Given the description of an element on the screen output the (x, y) to click on. 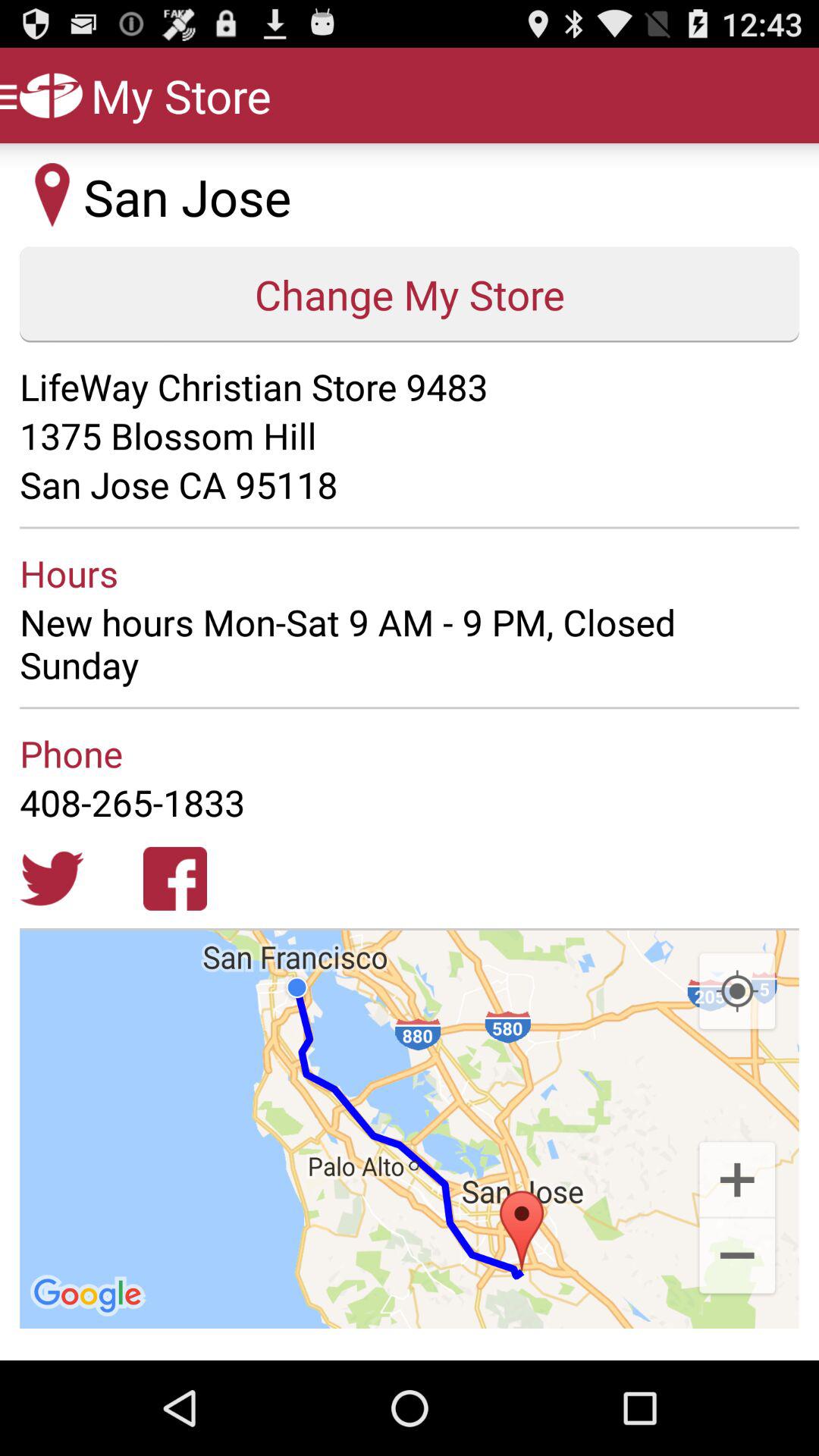
launch the item at the bottom (409, 1129)
